Given the description of an element on the screen output the (x, y) to click on. 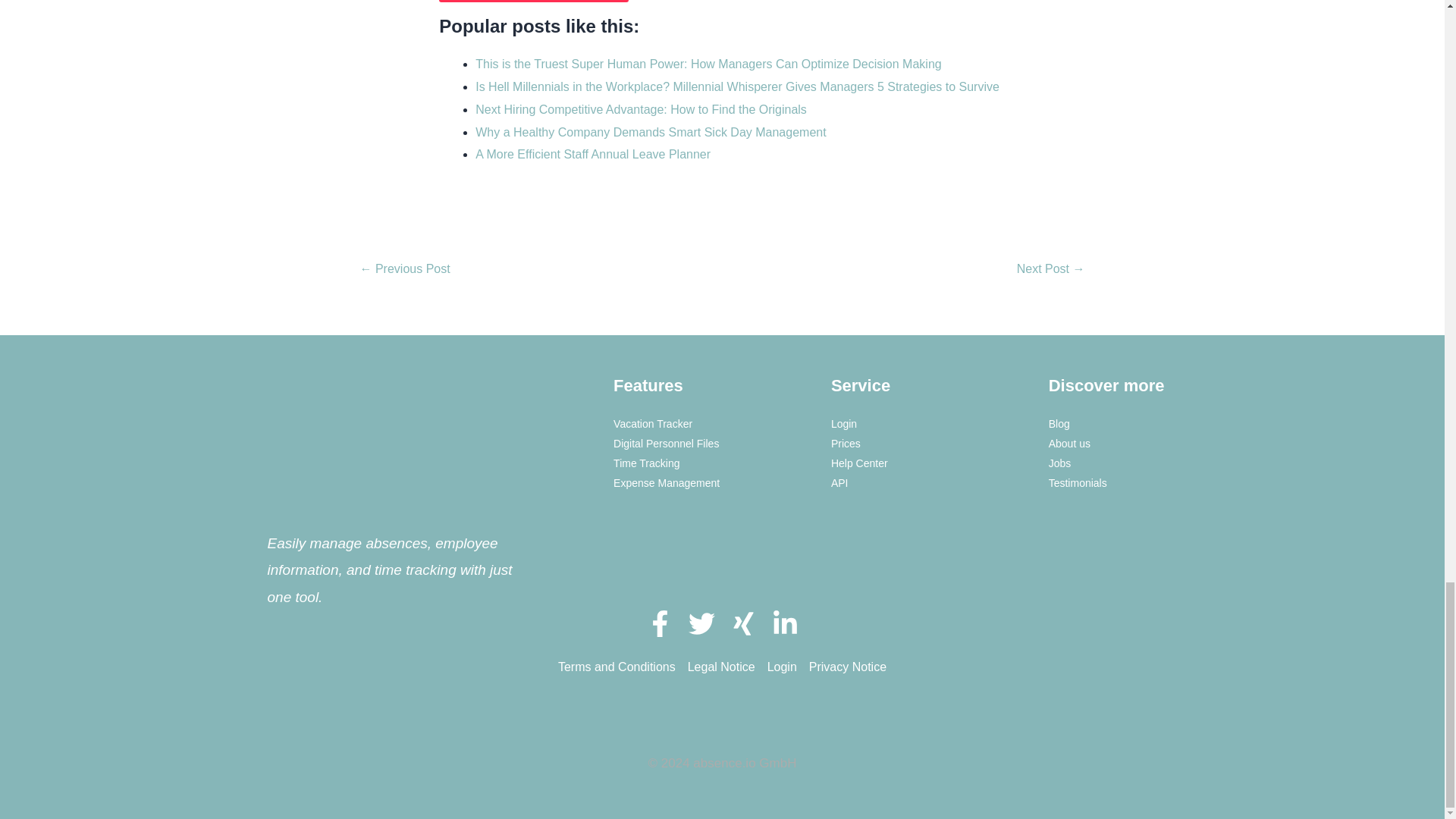
eKomi (344, 662)
Wake Up Your Walls: Office Decor is the Other Team Member (1050, 270)
